Given the description of an element on the screen output the (x, y) to click on. 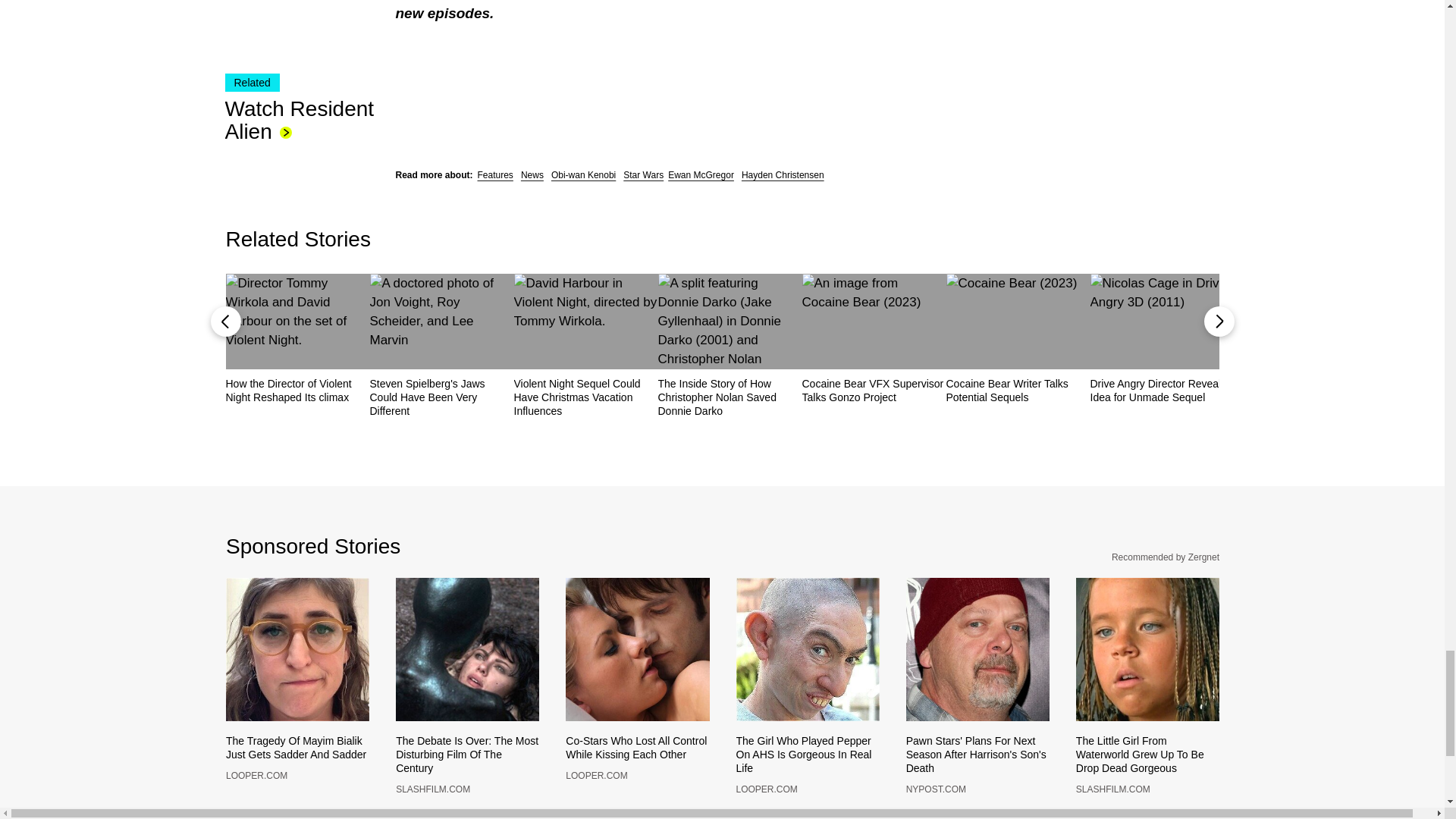
Ewan McGregor (700, 174)
Star Wars (643, 174)
Steven Spielberg's Jaws Could Have Been Very Different (441, 396)
Features (495, 174)
How the Director of Violent Night Reshaped Its climax (297, 390)
News (532, 174)
Hayden Christensen (782, 174)
Obi-wan Kenobi (583, 174)
